Given the description of an element on the screen output the (x, y) to click on. 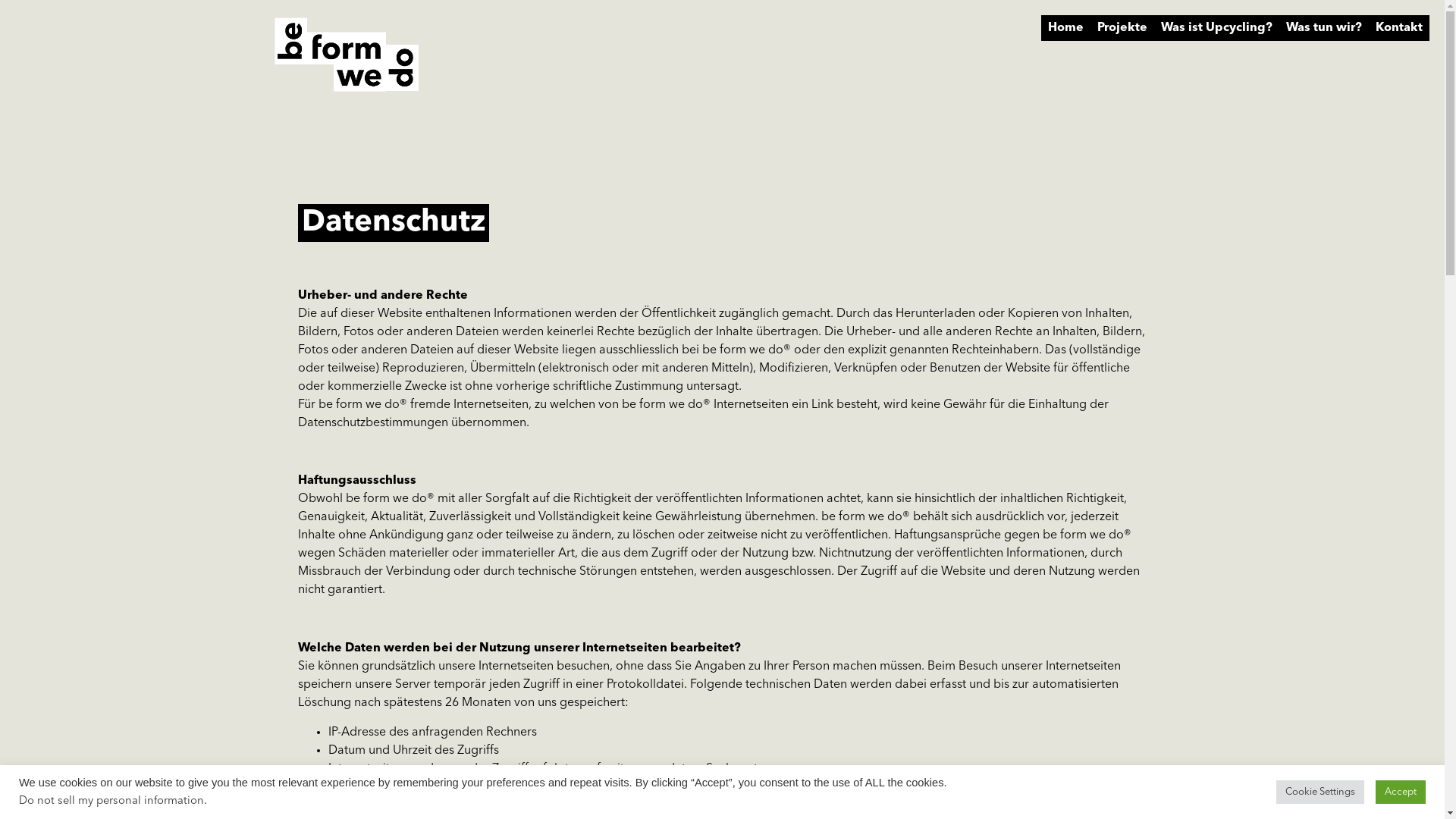
Accept Element type: text (1400, 791)
Home Element type: text (1065, 27)
Projekte Element type: text (1122, 27)
Cookie Settings Element type: text (1320, 791)
Kontakt Element type: text (1398, 27)
Was ist Upcycling? Element type: text (1216, 27)
Was tun wir? Element type: text (1323, 27)
Do not sell my personal information Element type: text (110, 800)
